Given the description of an element on the screen output the (x, y) to click on. 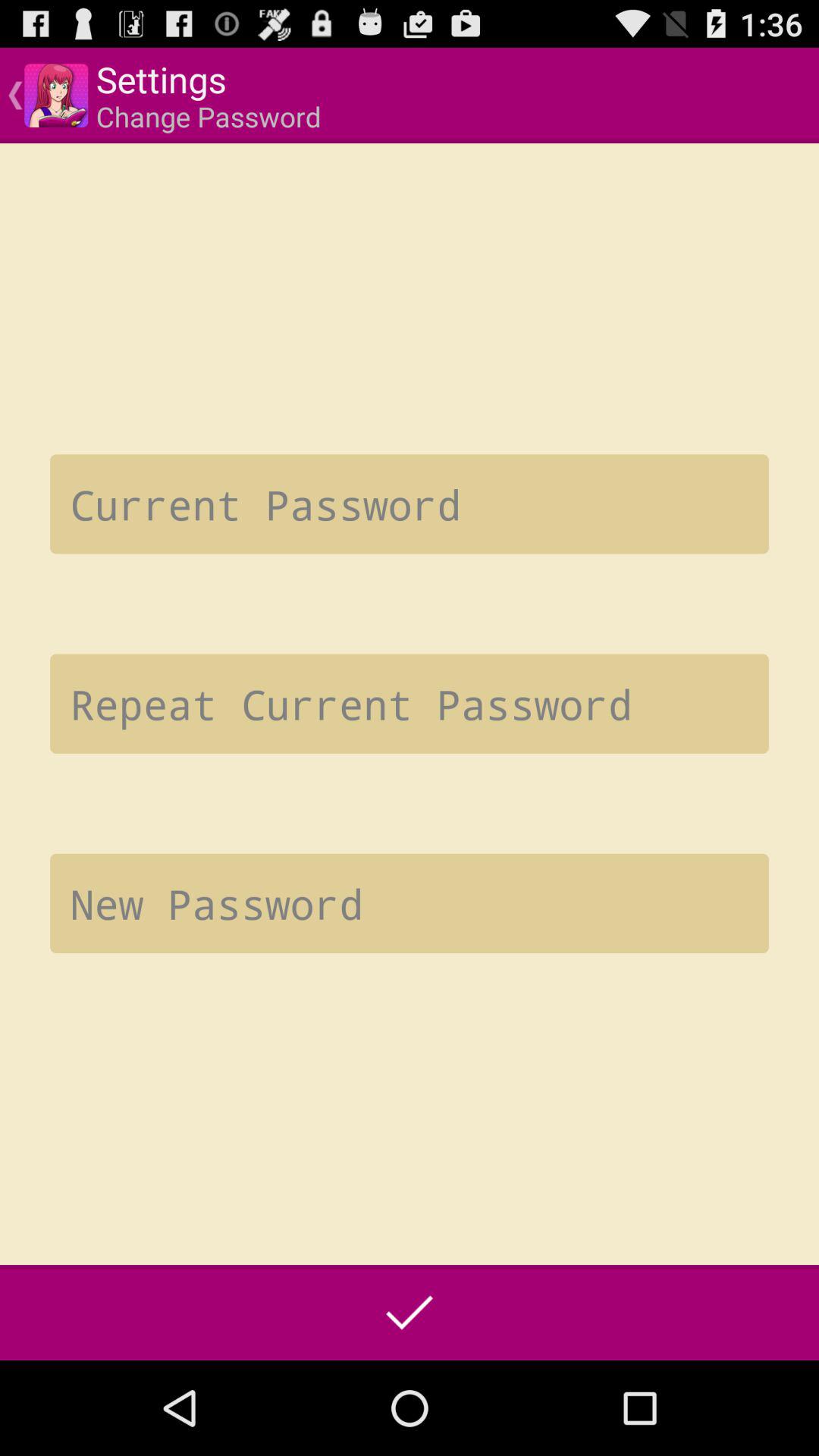
re-enter password (409, 703)
